Given the description of an element on the screen output the (x, y) to click on. 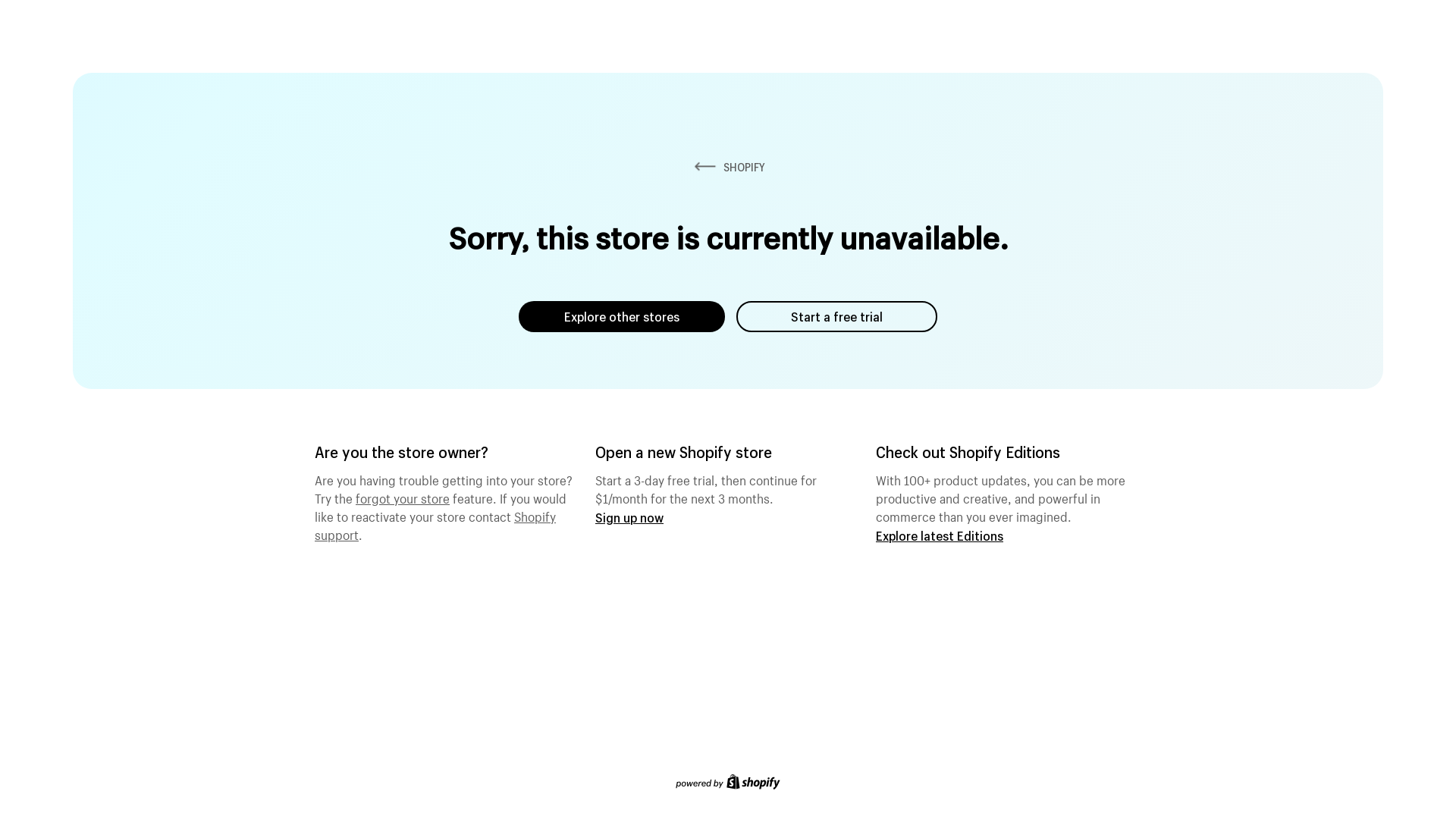
Explore other stores Element type: text (621, 316)
Start a free trial Element type: text (836, 316)
Shopify support Element type: text (434, 523)
SHOPIFY Element type: text (727, 167)
Sign up now Element type: text (629, 517)
forgot your store Element type: text (402, 496)
Explore latest Editions Element type: text (939, 535)
